Given the description of an element on the screen output the (x, y) to click on. 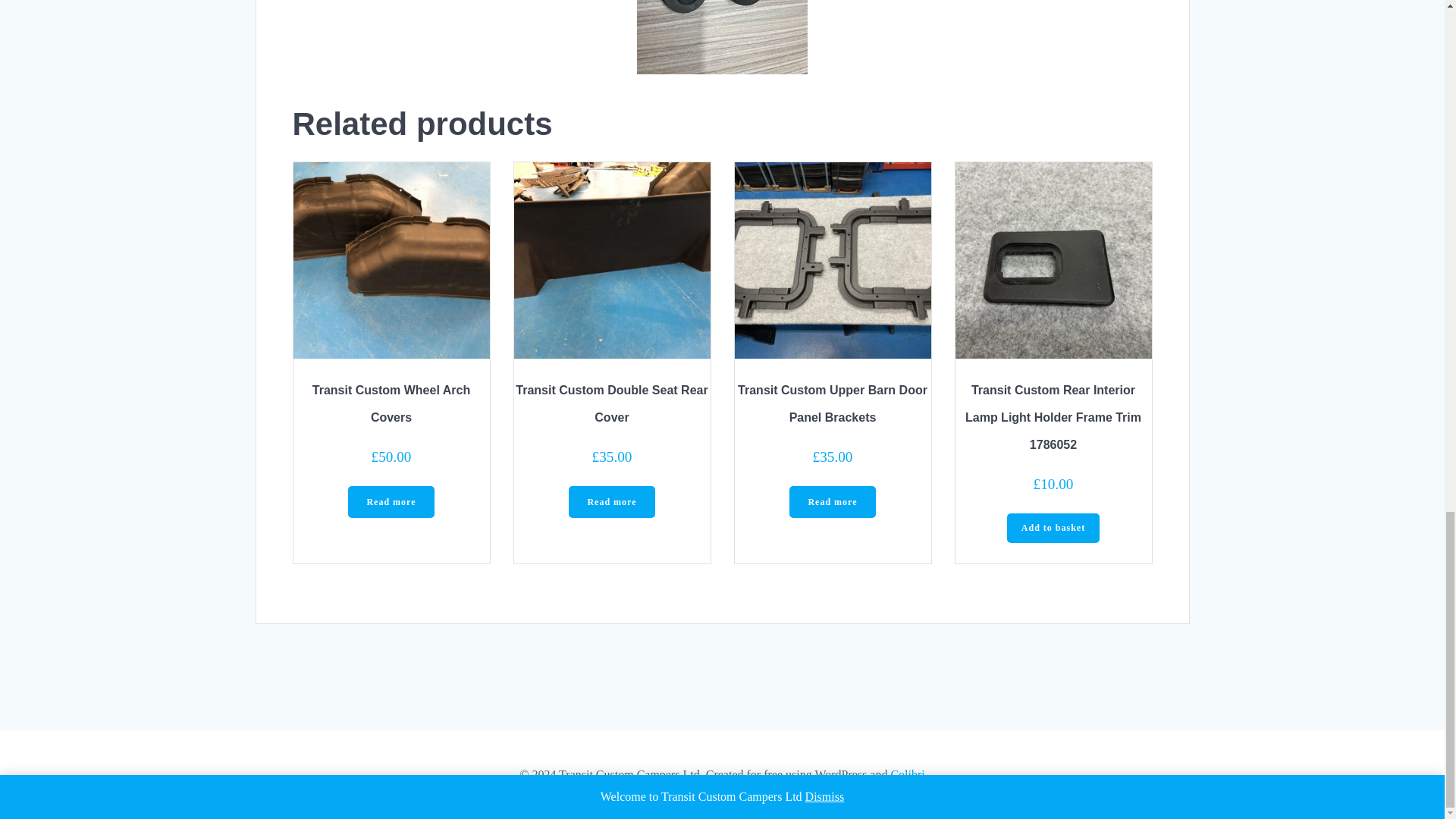
Colibri (906, 774)
Add to basket (1053, 527)
Read more (390, 501)
Read more (611, 501)
Read more (832, 501)
